Given the description of an element on the screen output the (x, y) to click on. 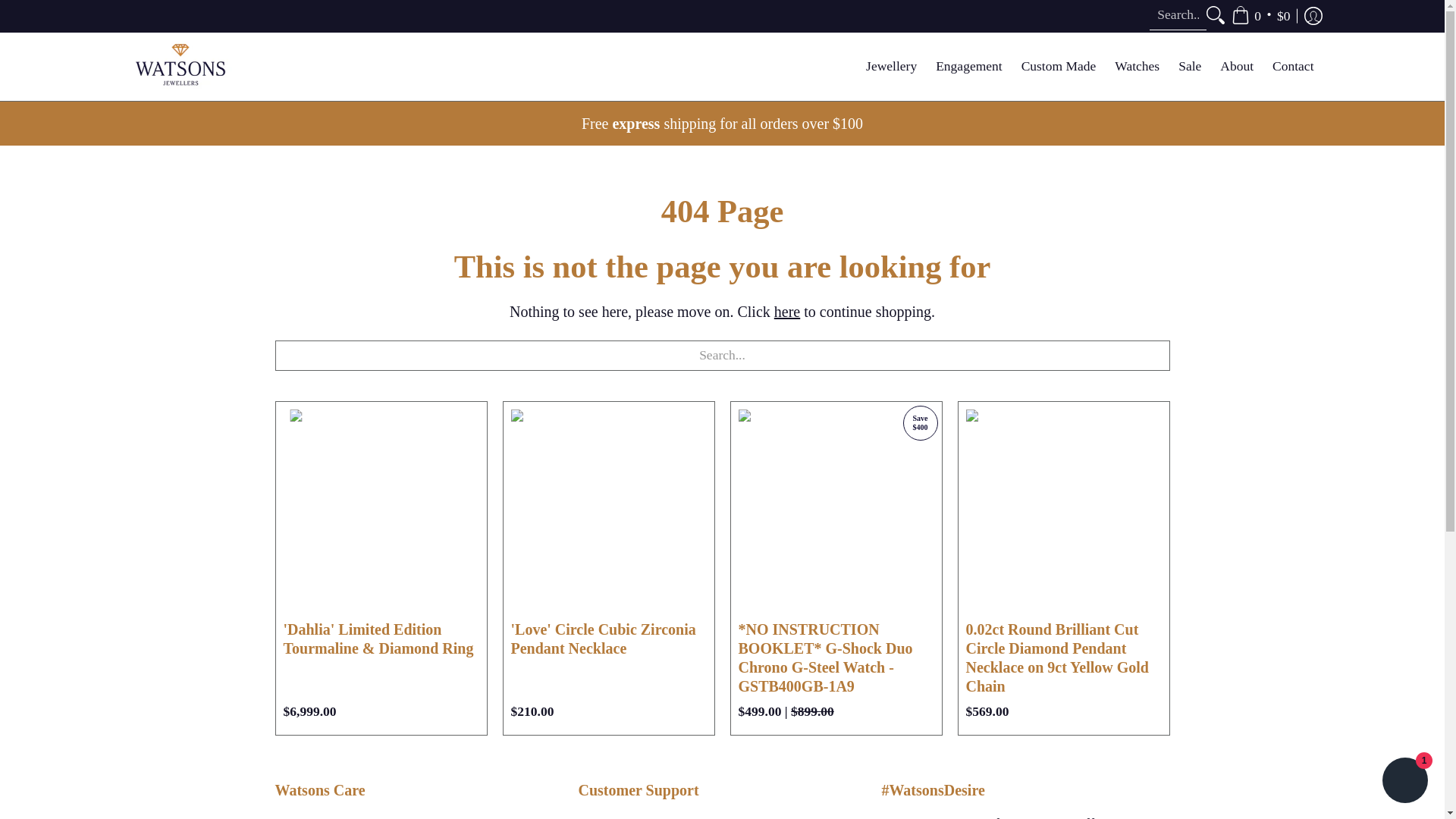
Engagement (968, 65)
Jewellery (891, 65)
Engagement (968, 65)
Watsons Jewellers (178, 65)
Custom Made (1058, 65)
Cart (1260, 16)
Log in (1312, 16)
Jewellery (891, 65)
Custom Made (1058, 65)
here (786, 311)
